Given the description of an element on the screen output the (x, y) to click on. 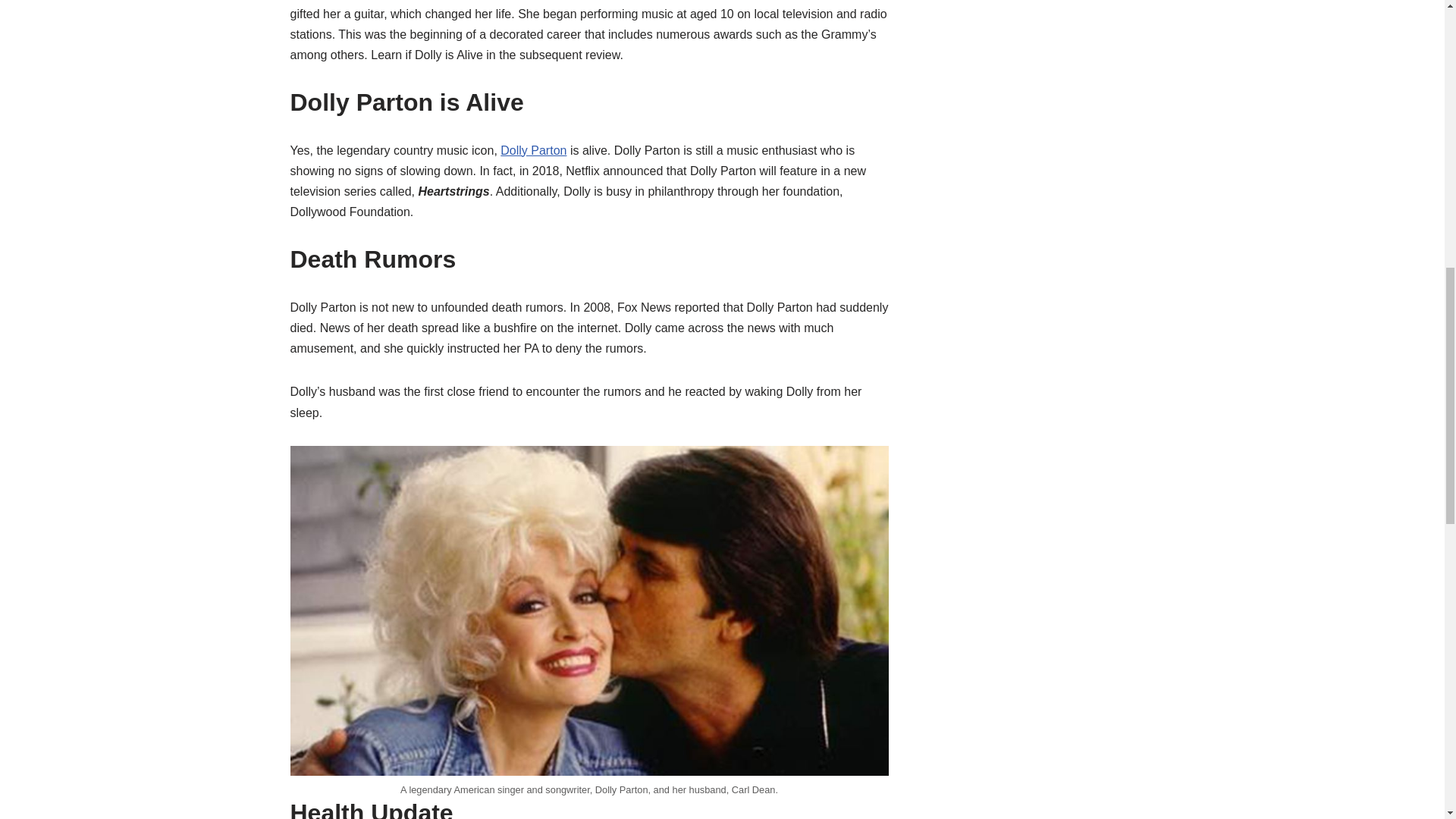
Dolly Parton (533, 150)
